Given the description of an element on the screen output the (x, y) to click on. 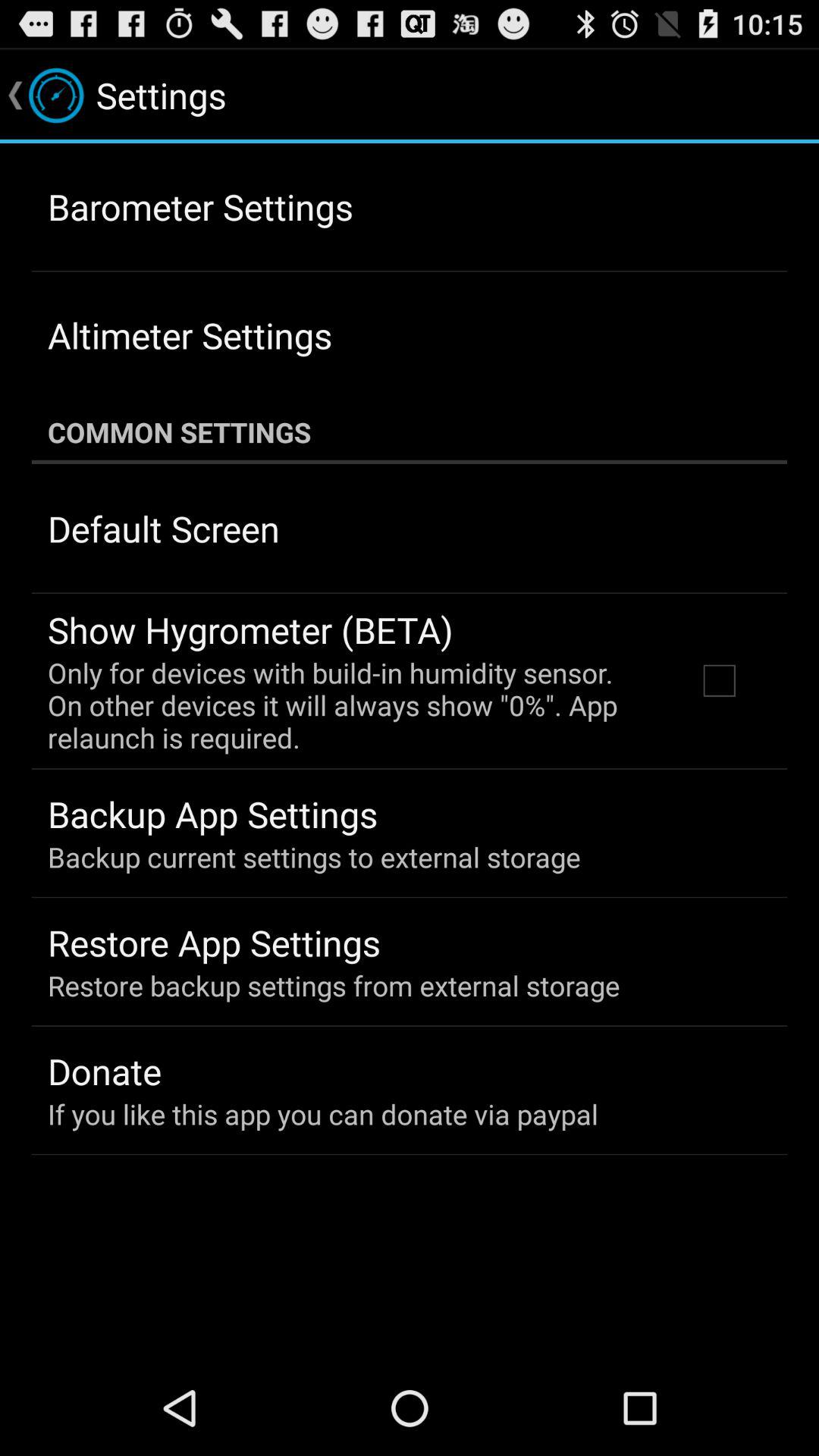
click the altimeter settings app (189, 335)
